Given the description of an element on the screen output the (x, y) to click on. 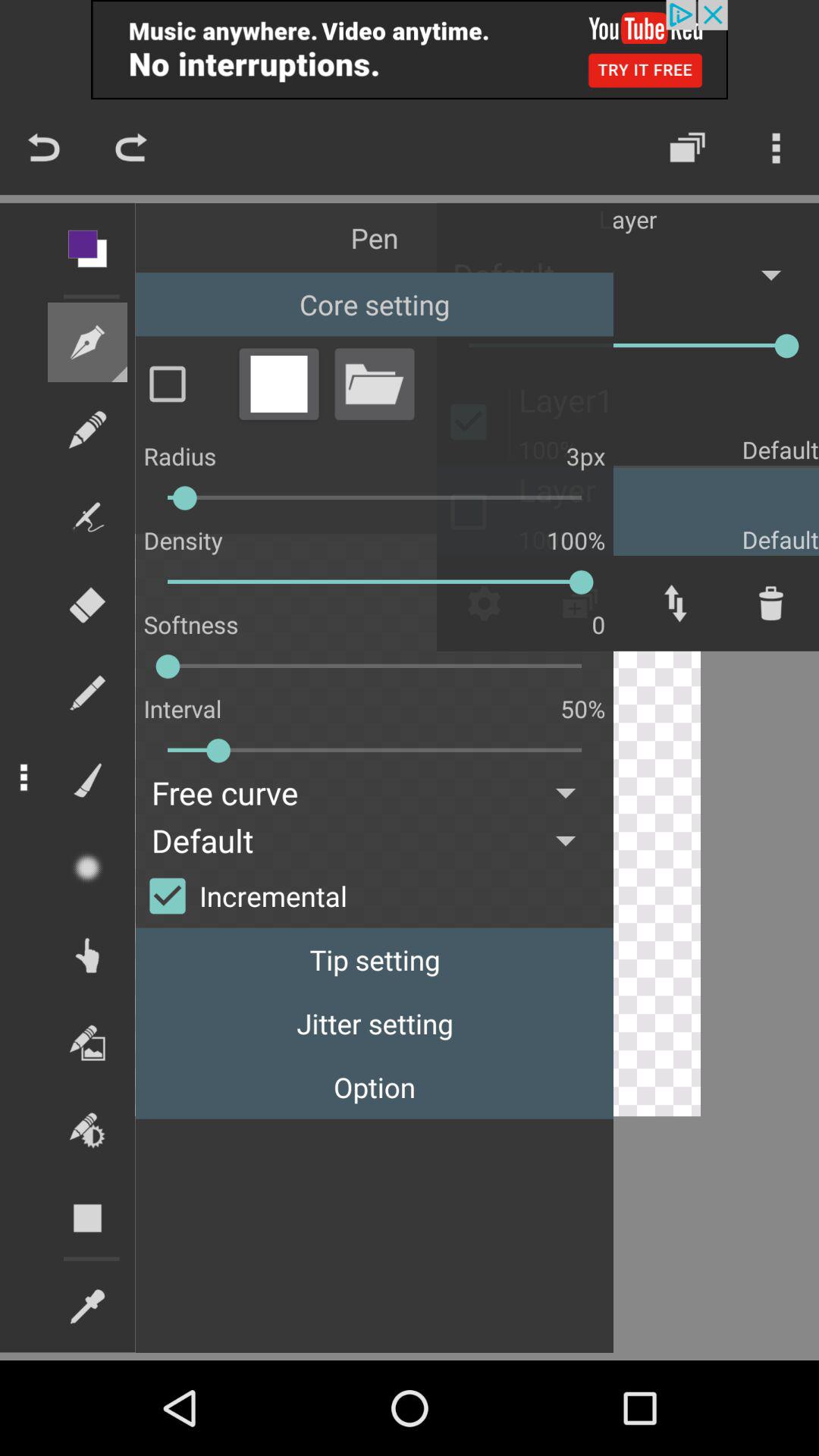
save options (278, 383)
